Given the description of an element on the screen output the (x, y) to click on. 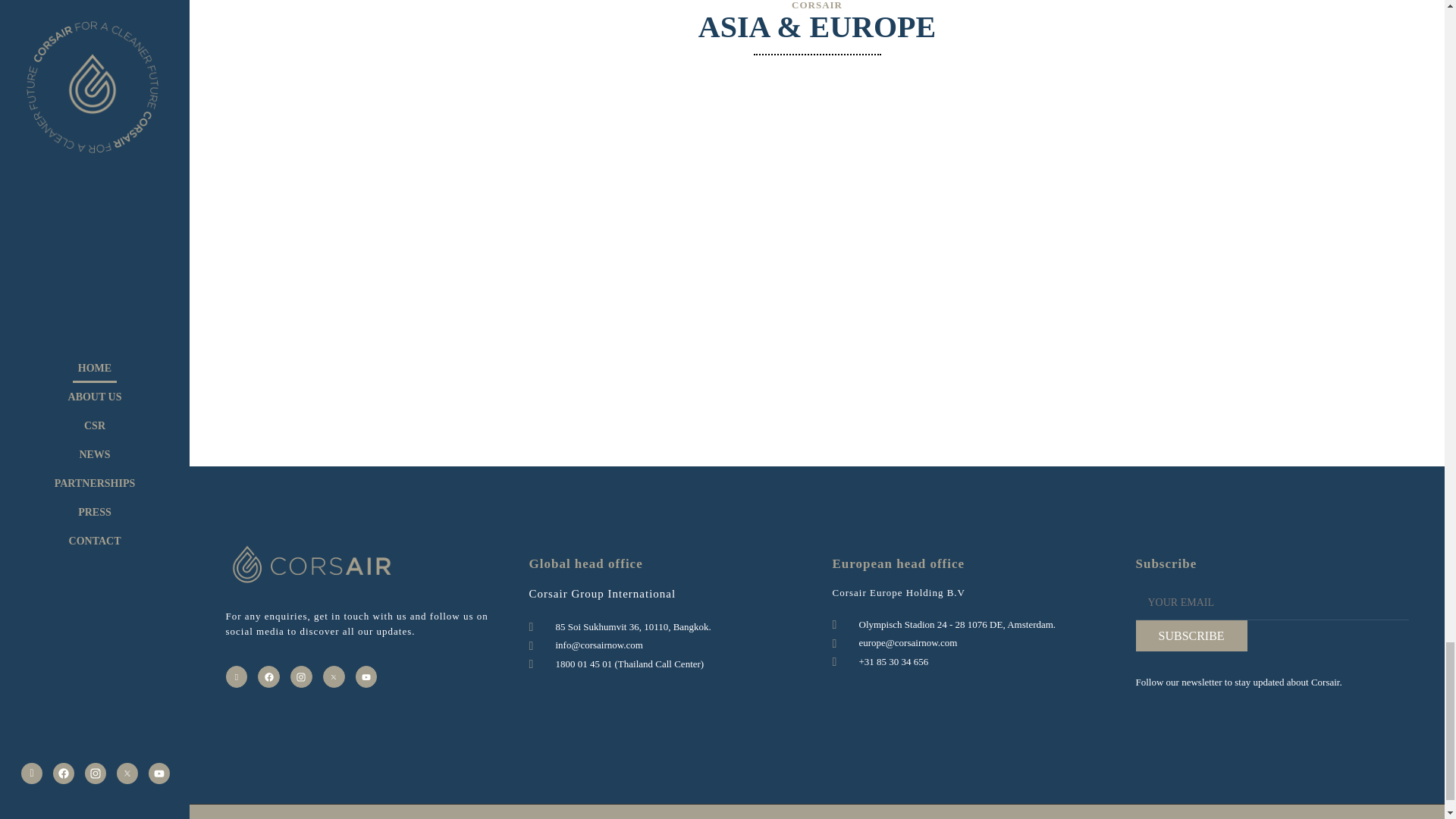
Subscribe (1191, 635)
